Given the description of an element on the screen output the (x, y) to click on. 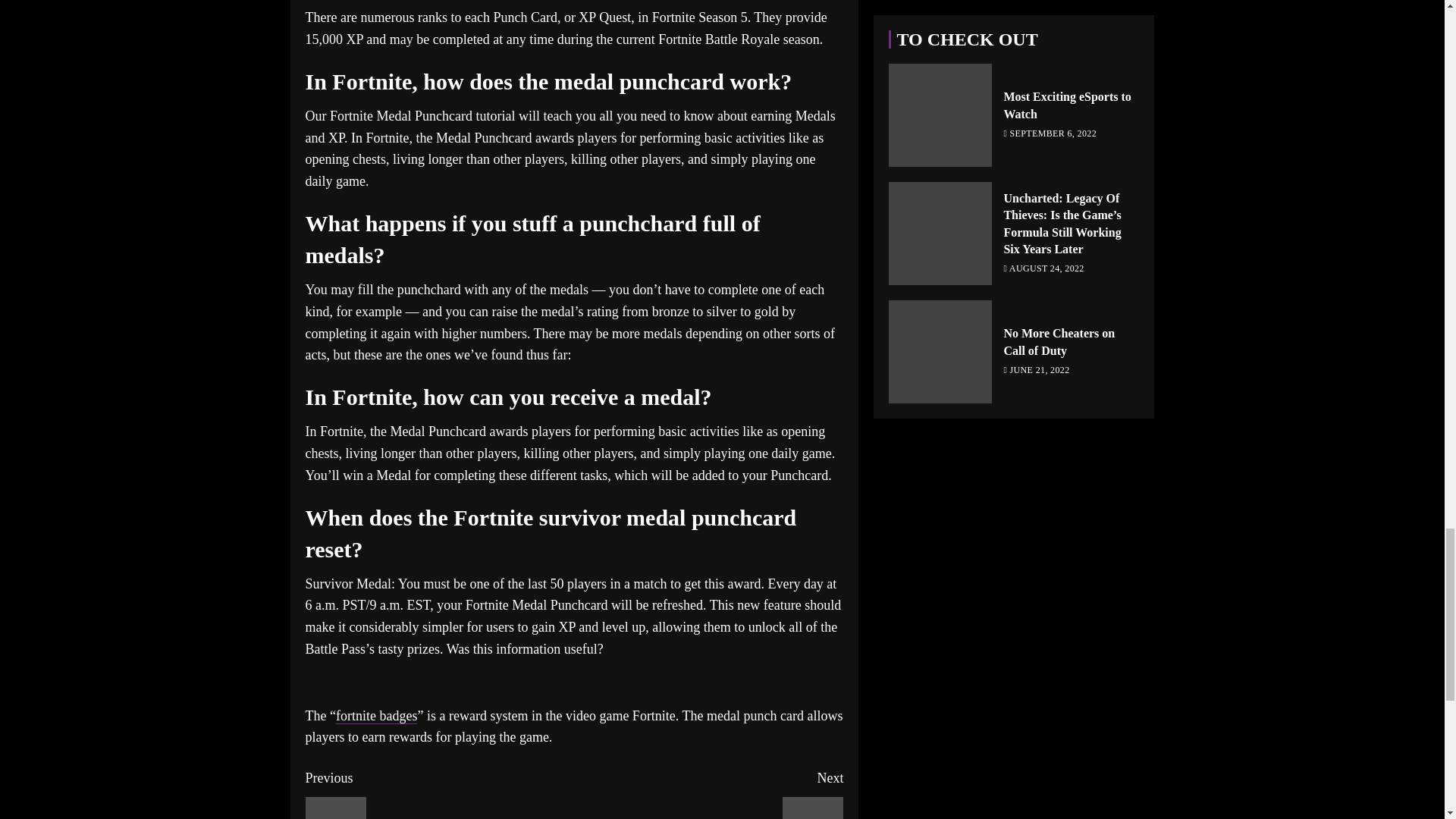
fortnite badges (376, 715)
